Given the description of an element on the screen output the (x, y) to click on. 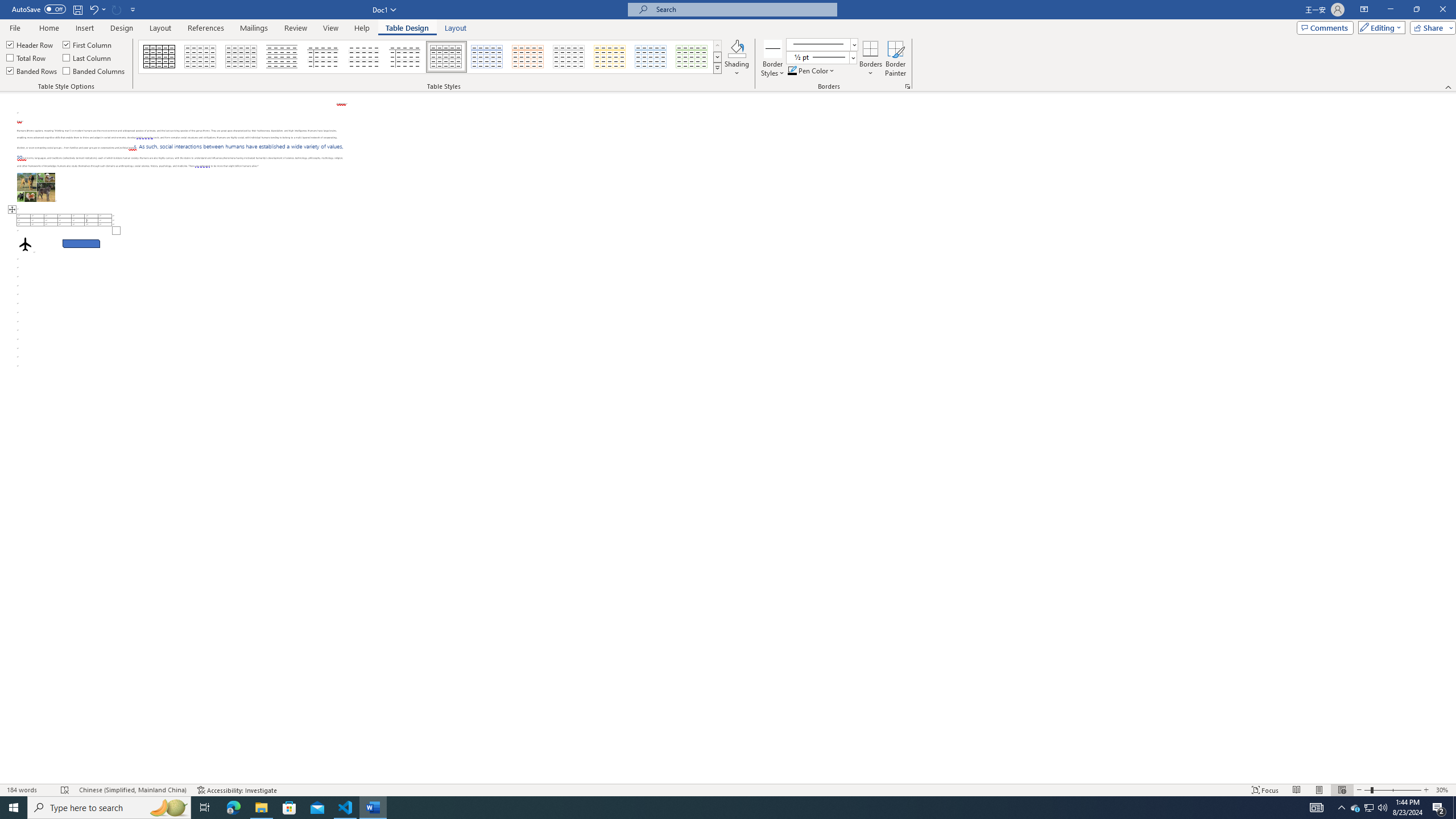
Table Grid (159, 56)
Shading (737, 58)
Border Styles (773, 58)
Pen Color (811, 69)
Border Painter (895, 58)
Zoom 30% (1443, 790)
Plain Table 3 (322, 56)
Plain Table 4 (363, 56)
